Given the description of an element on the screen output the (x, y) to click on. 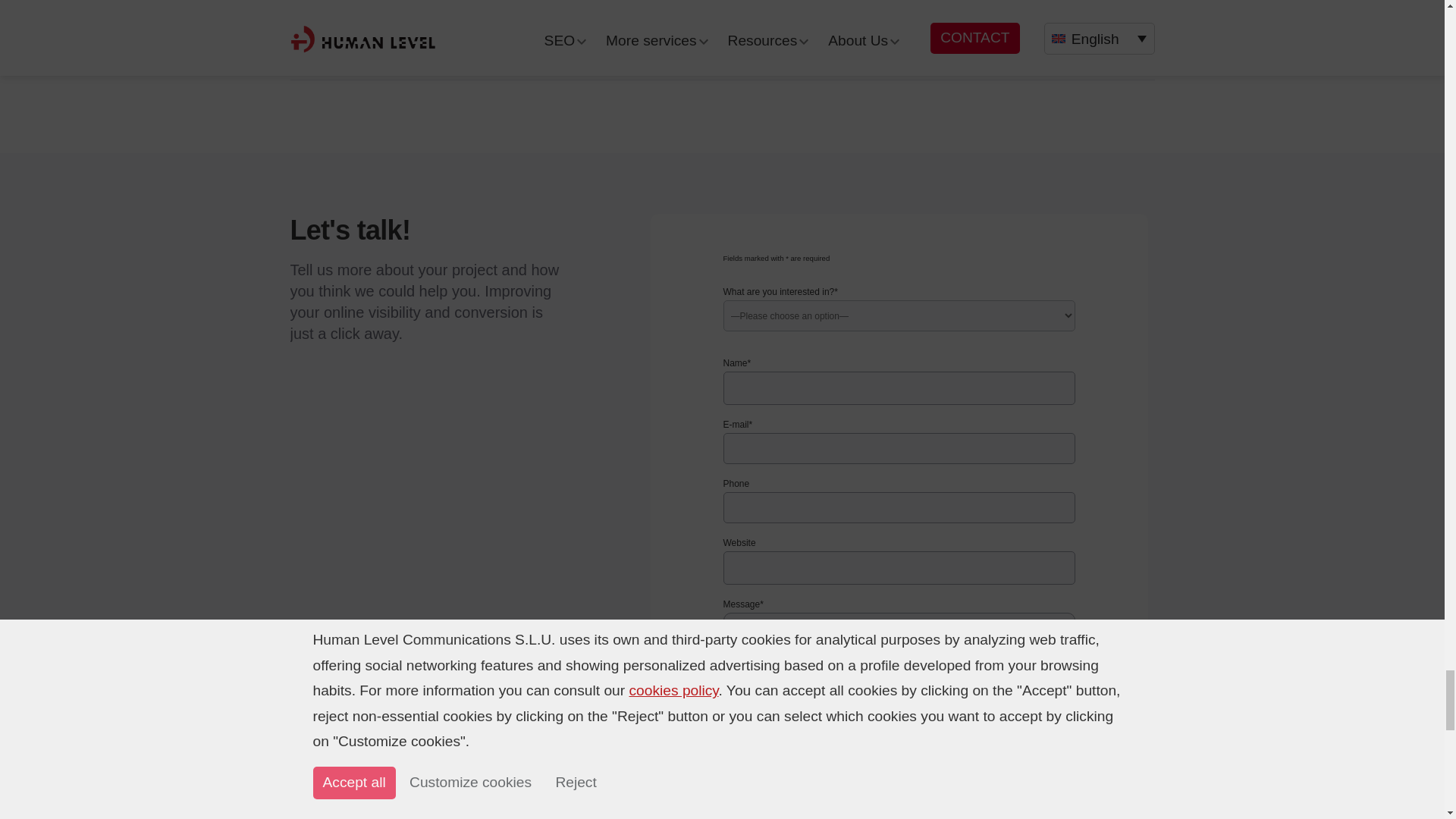
SEND (753, 805)
acepta-newsletter (729, 738)
accept-this-1 (729, 766)
